Given the description of an element on the screen output the (x, y) to click on. 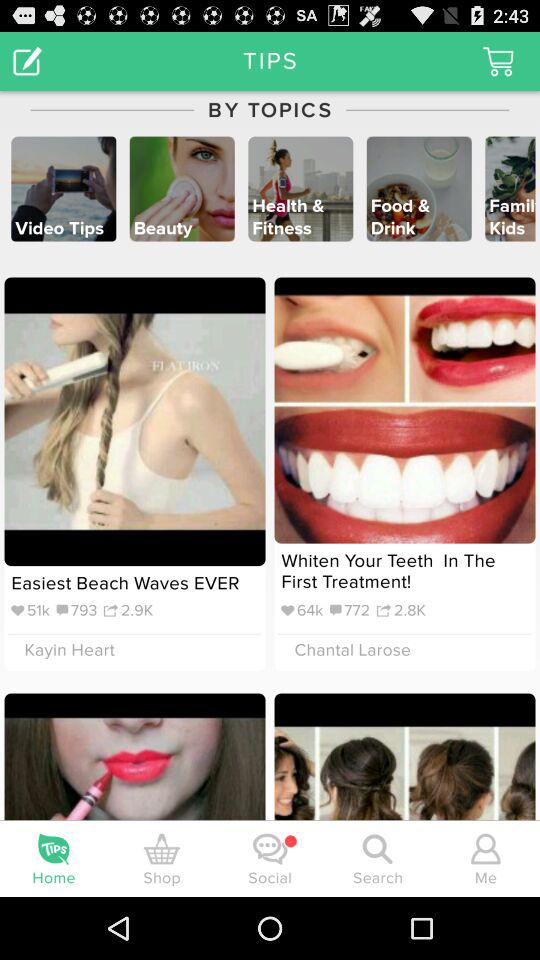
turn on the item to the right of the by topics icon (498, 60)
